Given the description of an element on the screen output the (x, y) to click on. 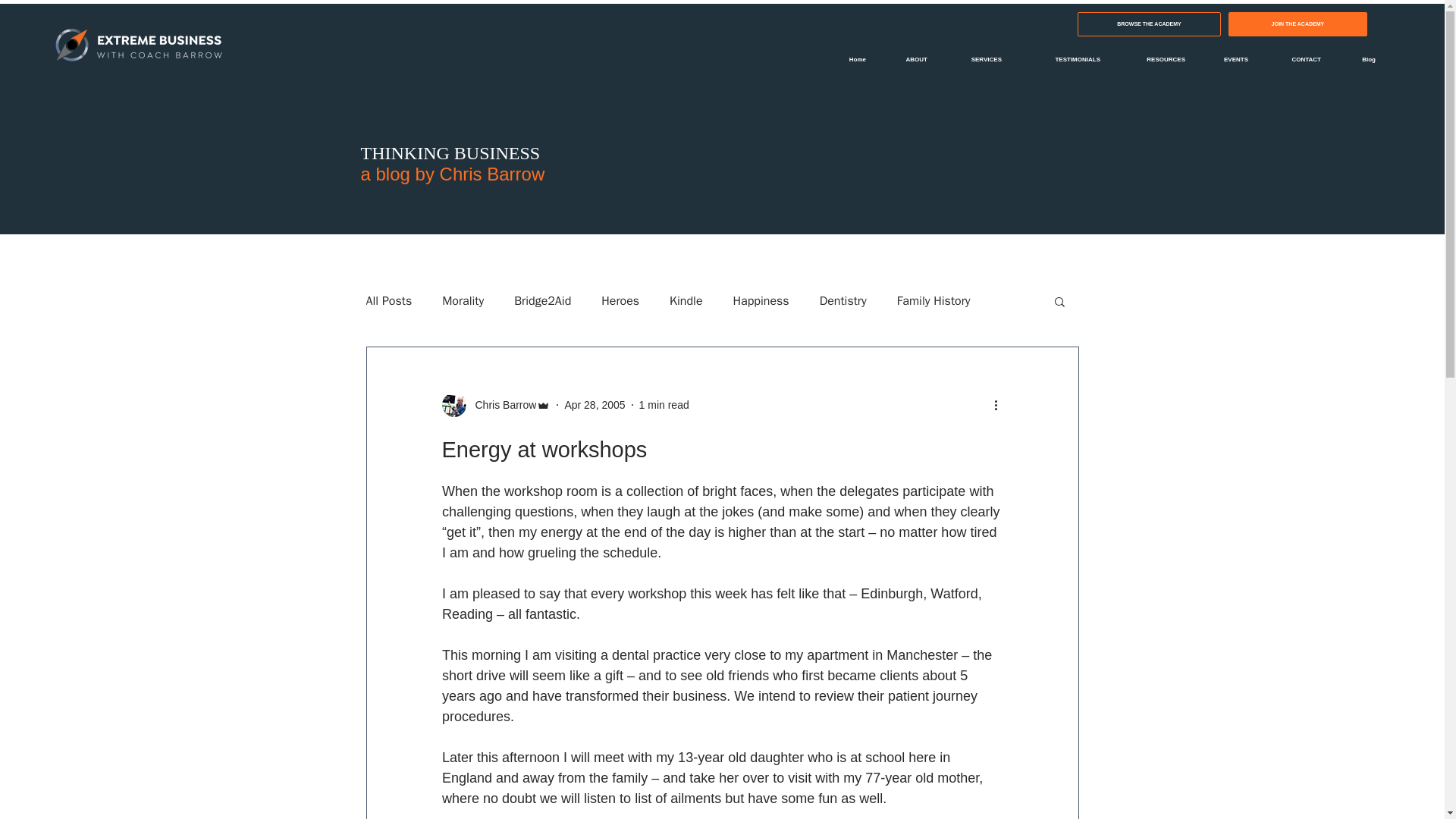
Home (849, 59)
TESTIMONIALS (1062, 59)
Blog (1359, 59)
Family History (933, 300)
All Posts (388, 300)
BROWSE THE ACADEMY (1149, 24)
1 min read (663, 404)
Happiness (761, 300)
JOIN THE ACADEMY (1297, 24)
RESOURCES (1154, 59)
EVENTS (1227, 59)
Apr 28, 2005 (594, 404)
Kindle (685, 300)
Dentistry (842, 300)
Chris Barrow (500, 405)
